Given the description of an element on the screen output the (x, y) to click on. 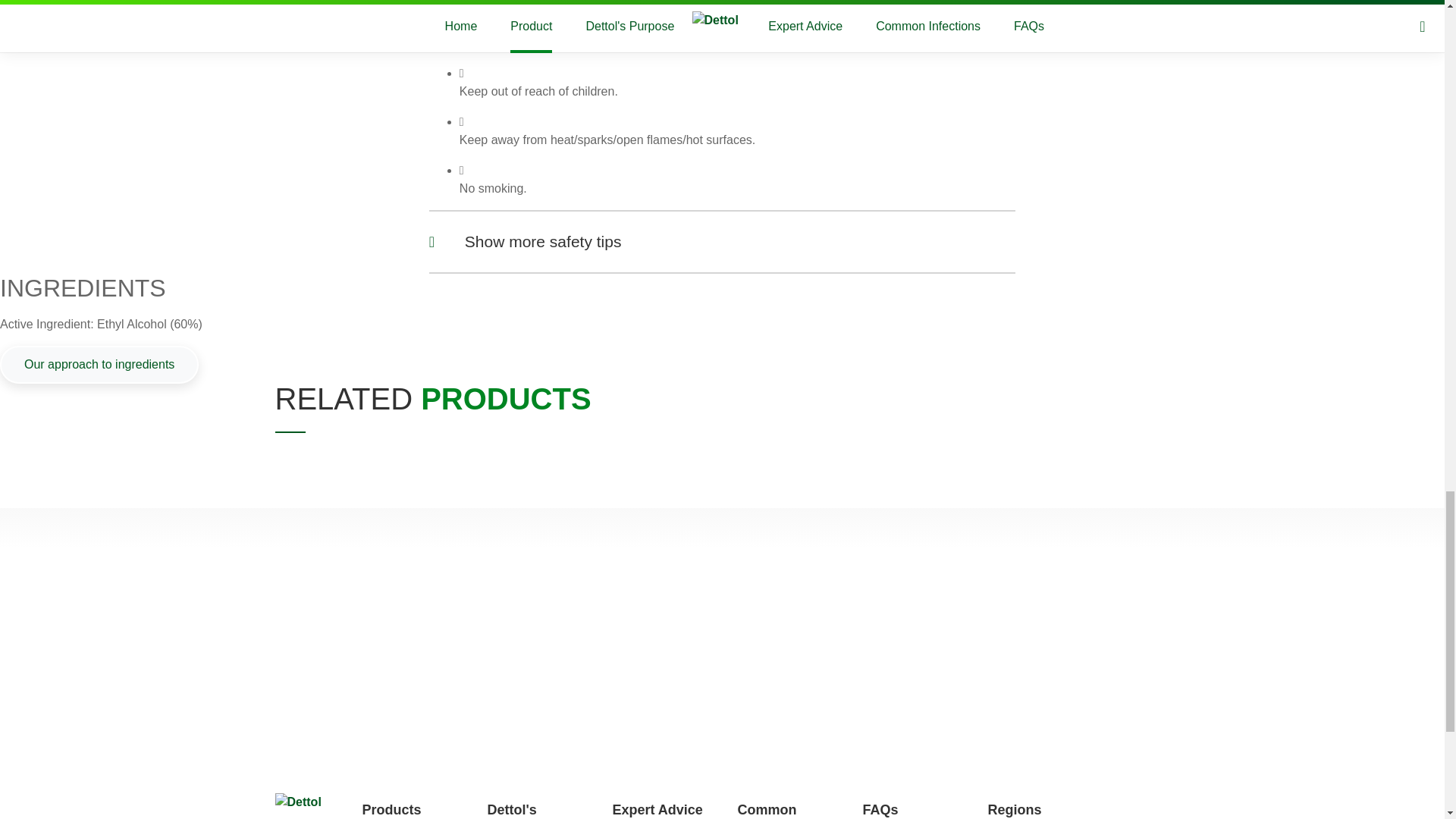
Our approach to ingredients (99, 364)
Show more safety tips (721, 241)
Expert Advice (657, 809)
Products (392, 809)
Common Infections (769, 810)
Dettol's purpose (513, 810)
